Given the description of an element on the screen output the (x, y) to click on. 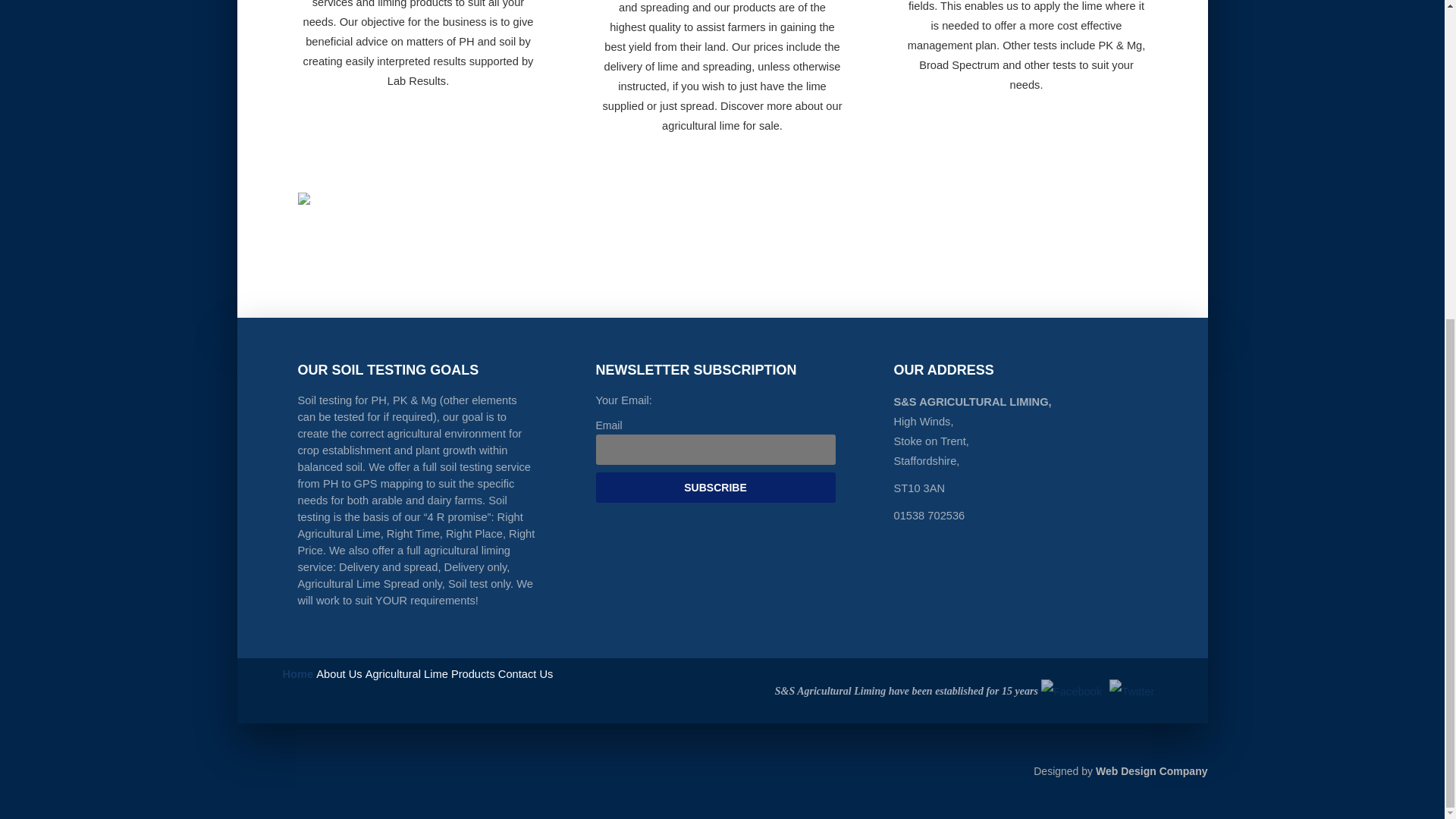
Agricultural Lime Products (430, 688)
Subscribe (715, 487)
Contact Us (525, 688)
Subscribe (715, 487)
Our web design company: Netbiz Group (1152, 770)
Home (297, 688)
About Us (338, 688)
Web Design Company (1152, 770)
